Given the description of an element on the screen output the (x, y) to click on. 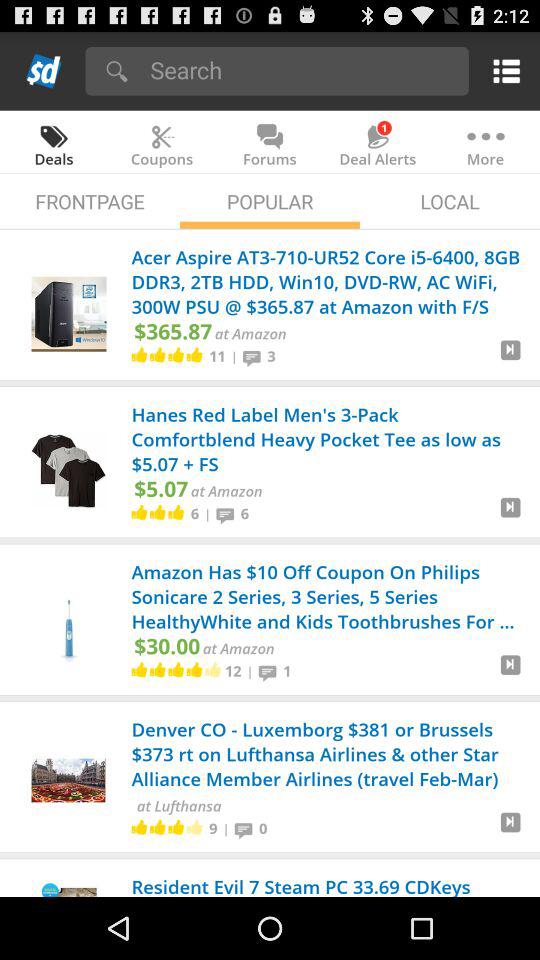
flip until the | icon (207, 513)
